Given the description of an element on the screen output the (x, y) to click on. 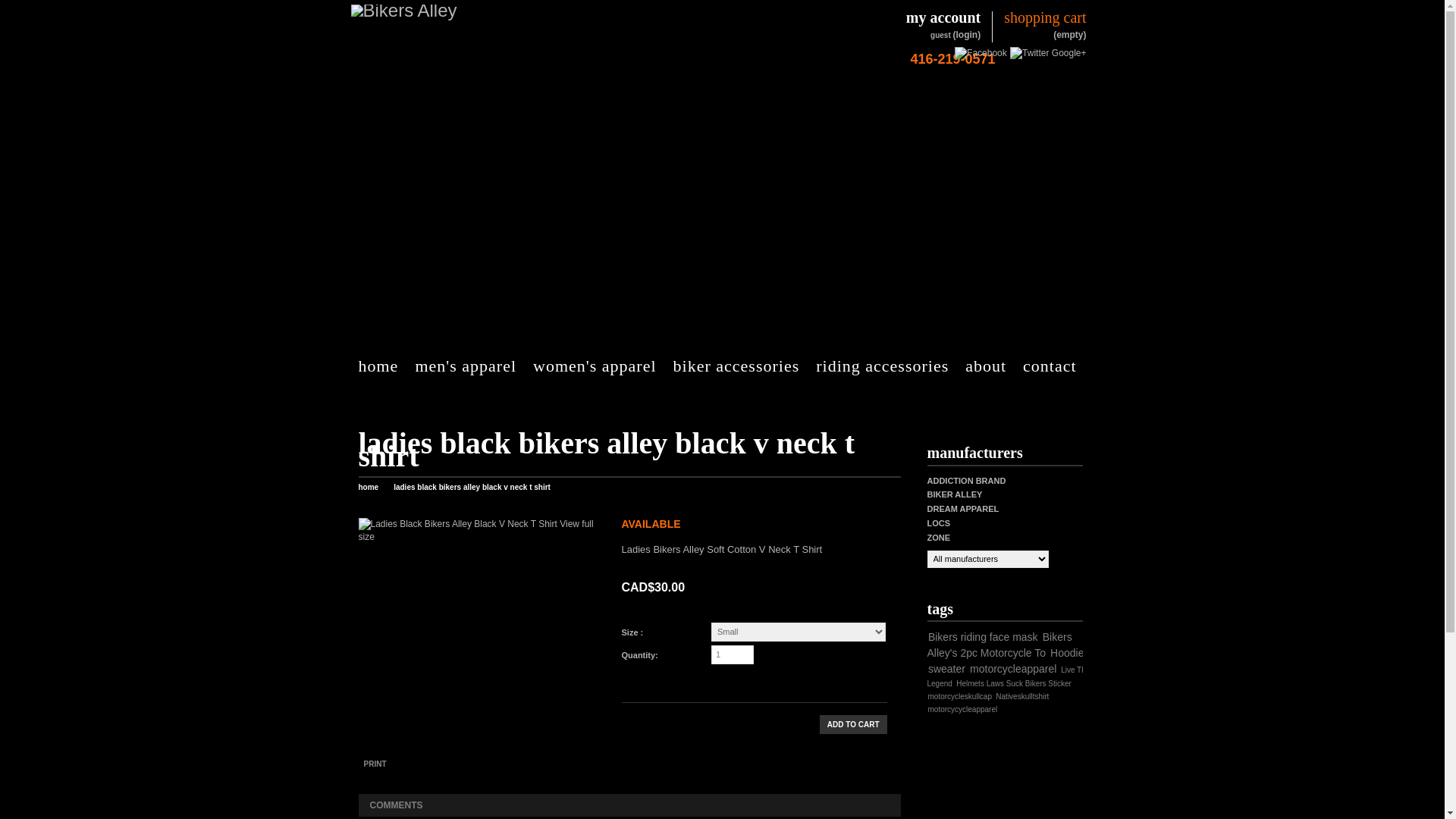
motorcycleapparel Element type: text (1012, 668)
men's apparel Element type: text (472, 366)
biker accessories Element type: text (744, 366)
shopping cart Element type: text (1044, 18)
Bikers riding face mask Element type: text (983, 636)
(login) Element type: text (967, 34)
ZONE Element type: text (938, 537)
Add to cart Element type: text (853, 724)
home Element type: text (367, 486)
contact Element type: text (1057, 366)
Google+ Element type: text (1068, 52)
motorcycycleapparel Element type: text (962, 709)
Ladies Black Bikers Alley Black V Neck T Shirt Element type: hover (456, 523)
COMMENTS Element type: text (395, 804)
Live The Legend Element type: text (1007, 676)
BIKER ALLEY Element type: text (954, 493)
riding accessories Element type: text (889, 366)
Helmets Laws Suck Bikers Sticker Element type: text (1013, 683)
women's apparel Element type: text (602, 366)
motorcycleskullcap Element type: text (959, 696)
Nativeskulltshirt Element type: text (1021, 696)
ADDICTION BRAND Element type: text (965, 480)
LOCS Element type: text (938, 522)
manufacturers Element type: text (974, 452)
home Element type: text (385, 366)
Hoodie Element type: text (1066, 652)
sweater Element type: text (946, 668)
about Element type: text (993, 366)
my account Element type: text (943, 17)
DREAM APPAREL Element type: text (962, 508)
PRINT Element type: text (374, 764)
Bikers Alley's 2pc Motorcycle To Element type: text (998, 644)
